Given the description of an element on the screen output the (x, y) to click on. 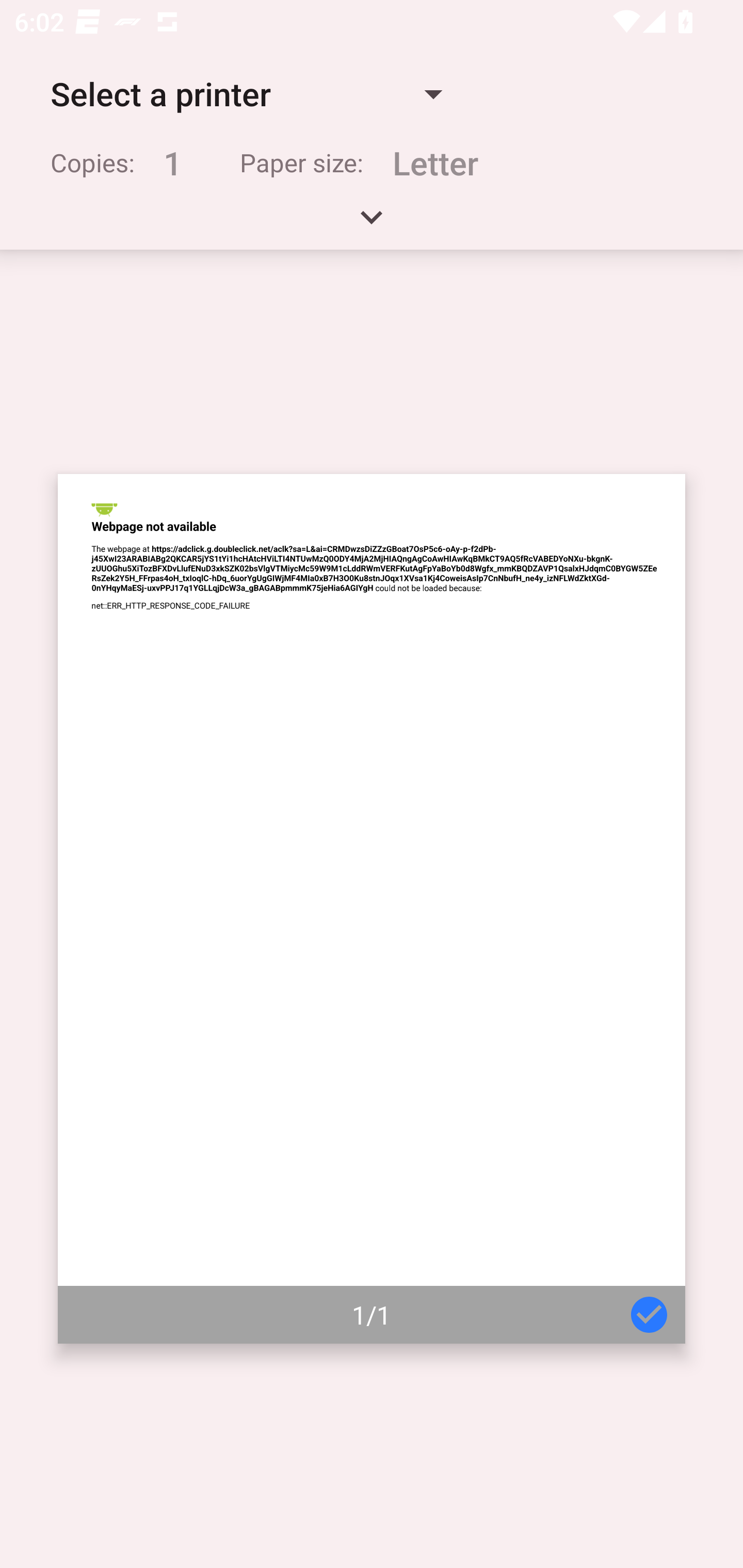
Select a printer (245, 93)
Expand handle (371, 224)
Page 1 of 1 1/1 (371, 908)
